Given the description of an element on the screen output the (x, y) to click on. 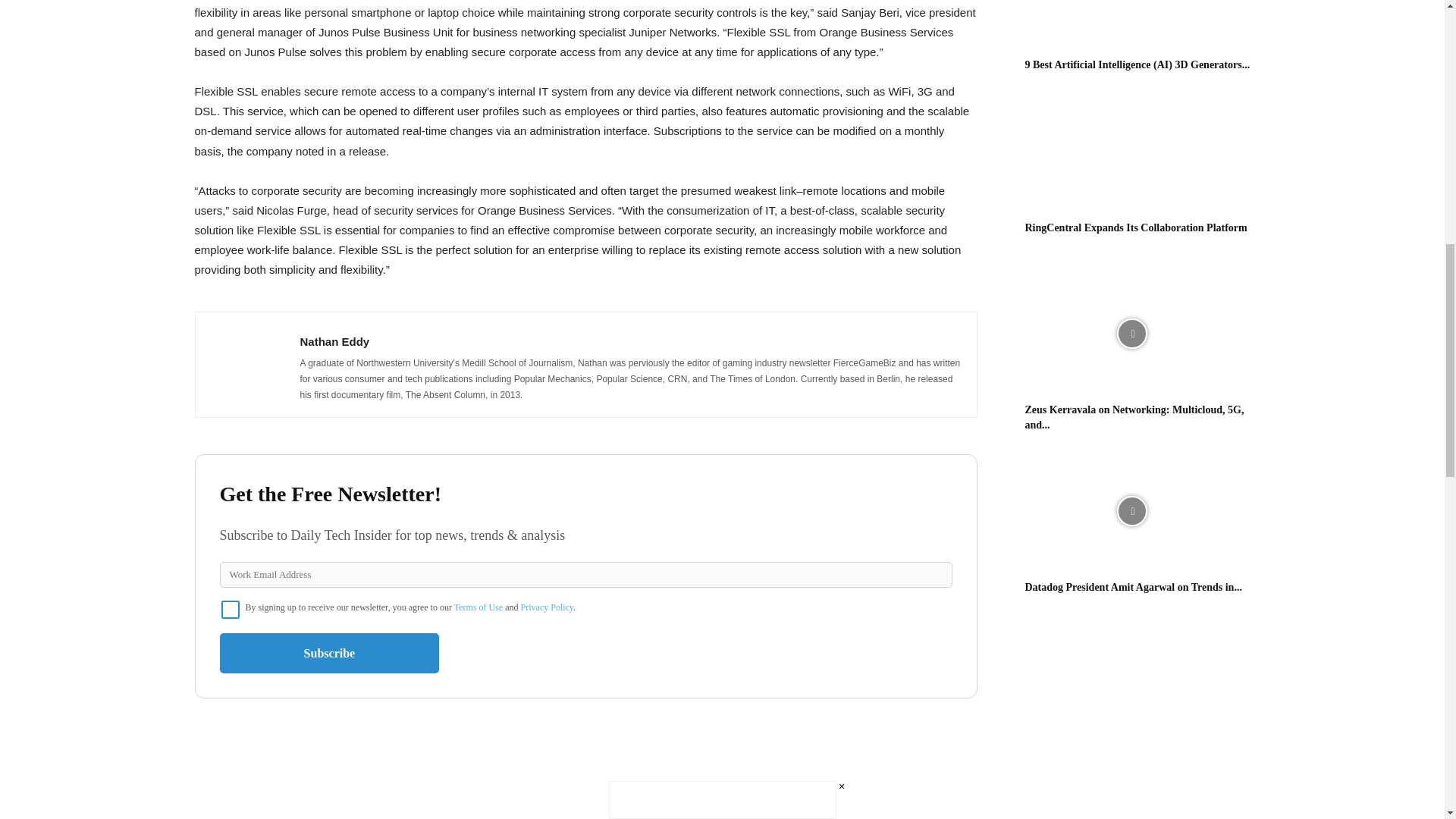
RingCentral Expands Its Collaboration Platform (1131, 151)
RingCentral Expands Its Collaboration Platform (1136, 227)
Zeus Kerravala on Networking: Multicloud, 5G, and Automation (1131, 333)
on (230, 609)
Zeus Kerravala on Networking: Multicloud, 5G, and Automation (1134, 417)
